Given the description of an element on the screen output the (x, y) to click on. 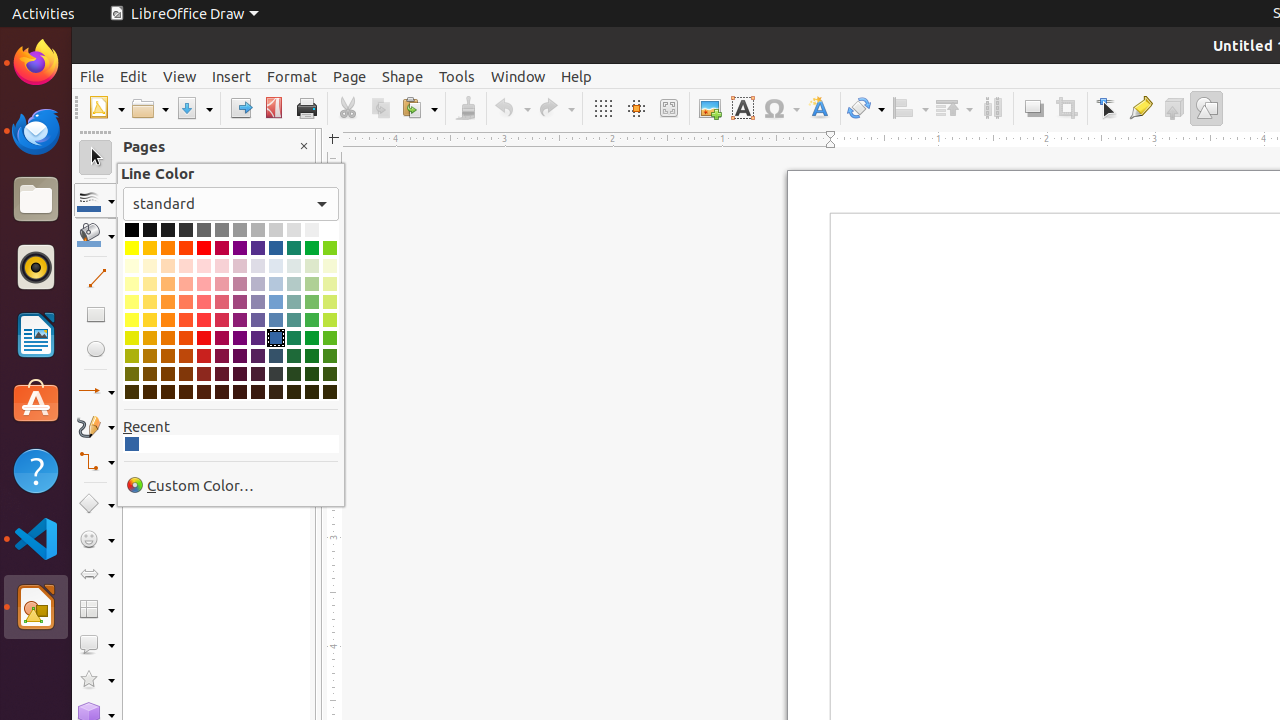
Helplines While Moving Element type: toggle-button (635, 108)
Light Gold 2 Element type: list-item (150, 302)
Distribution Element type: push-button (992, 108)
Dark Magenta 4 Element type: list-item (222, 392)
Dark Red 3 Element type: list-item (204, 374)
